Given the description of an element on the screen output the (x, y) to click on. 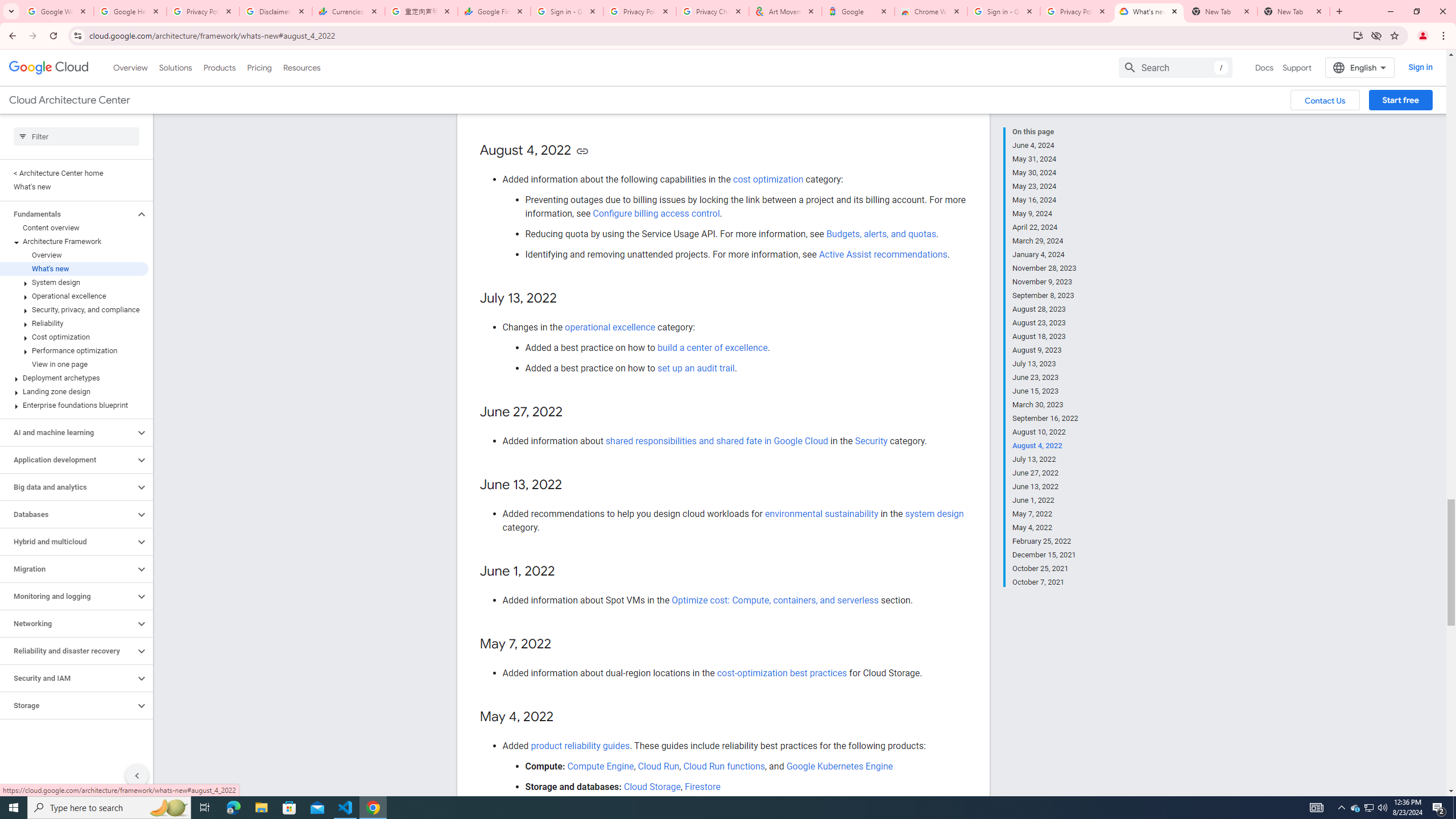
Optimize cost: Compute, containers, and serverless (775, 600)
Copy link to this section: July 13, 2022 (567, 298)
Security and IAM (67, 678)
August 10, 2022 (1044, 431)
July 13, 2022 (1044, 459)
Hide side navigation (136, 775)
Cloud Run functions (723, 765)
August 28, 2023 (1044, 309)
June 23, 2023 (1044, 377)
Architecture Framework (74, 241)
core principles of system design (618, 86)
Cloud Storage (652, 786)
Copy link to this section: June 13, 2022 (573, 485)
March 30, 2023 (1044, 404)
